Given the description of an element on the screen output the (x, y) to click on. 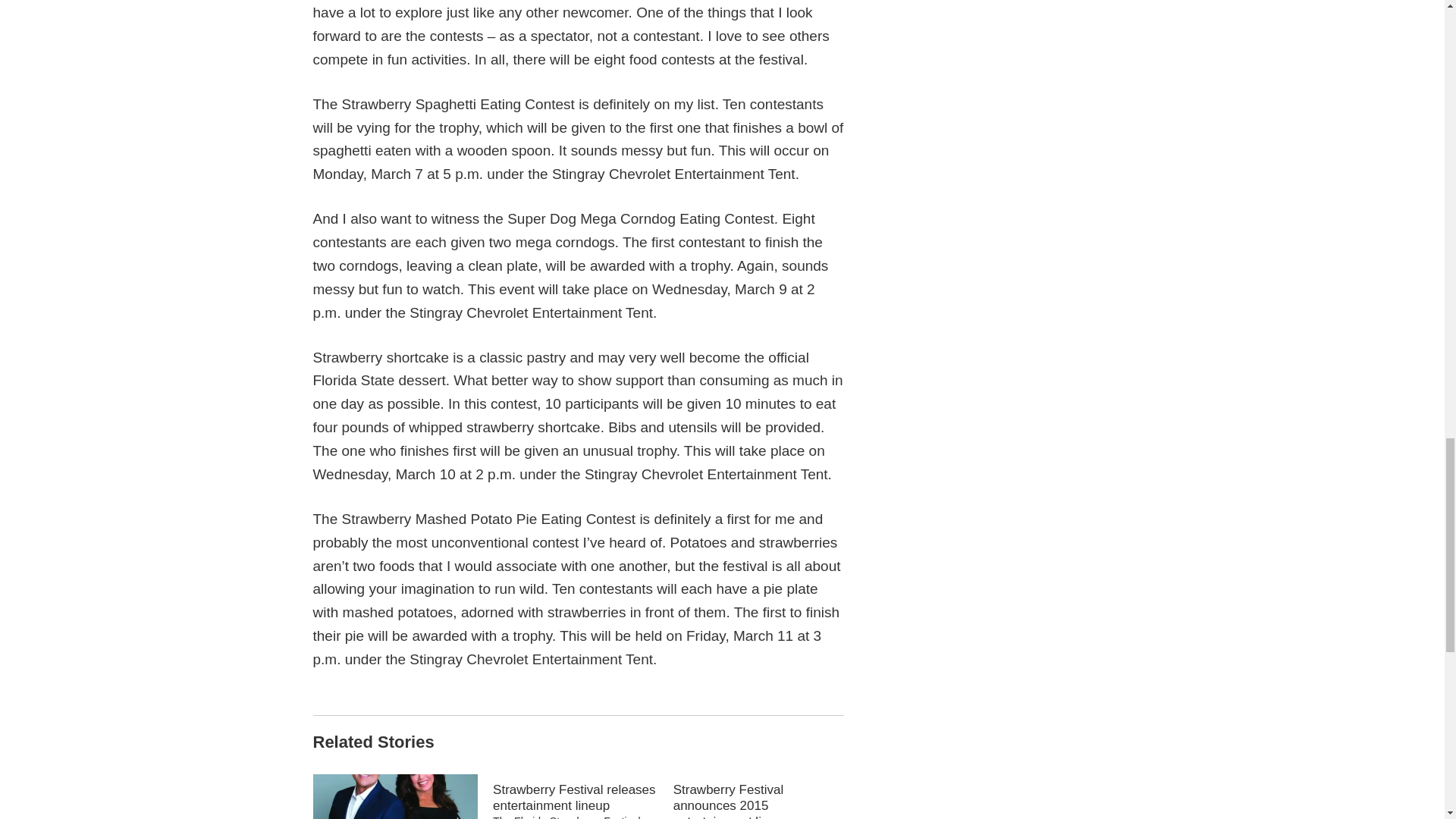
Strawberry Festival releases entertainment lineup (575, 798)
Strawberry Festival releases entertainment lineup (582, 796)
Strawberry Festival releases entertainment lineup (575, 798)
Strawberry Festival announces 2015 entertainment lineup (755, 800)
Strawberry Festival announces 2015 entertainment lineup (762, 796)
